Given the description of an element on the screen output the (x, y) to click on. 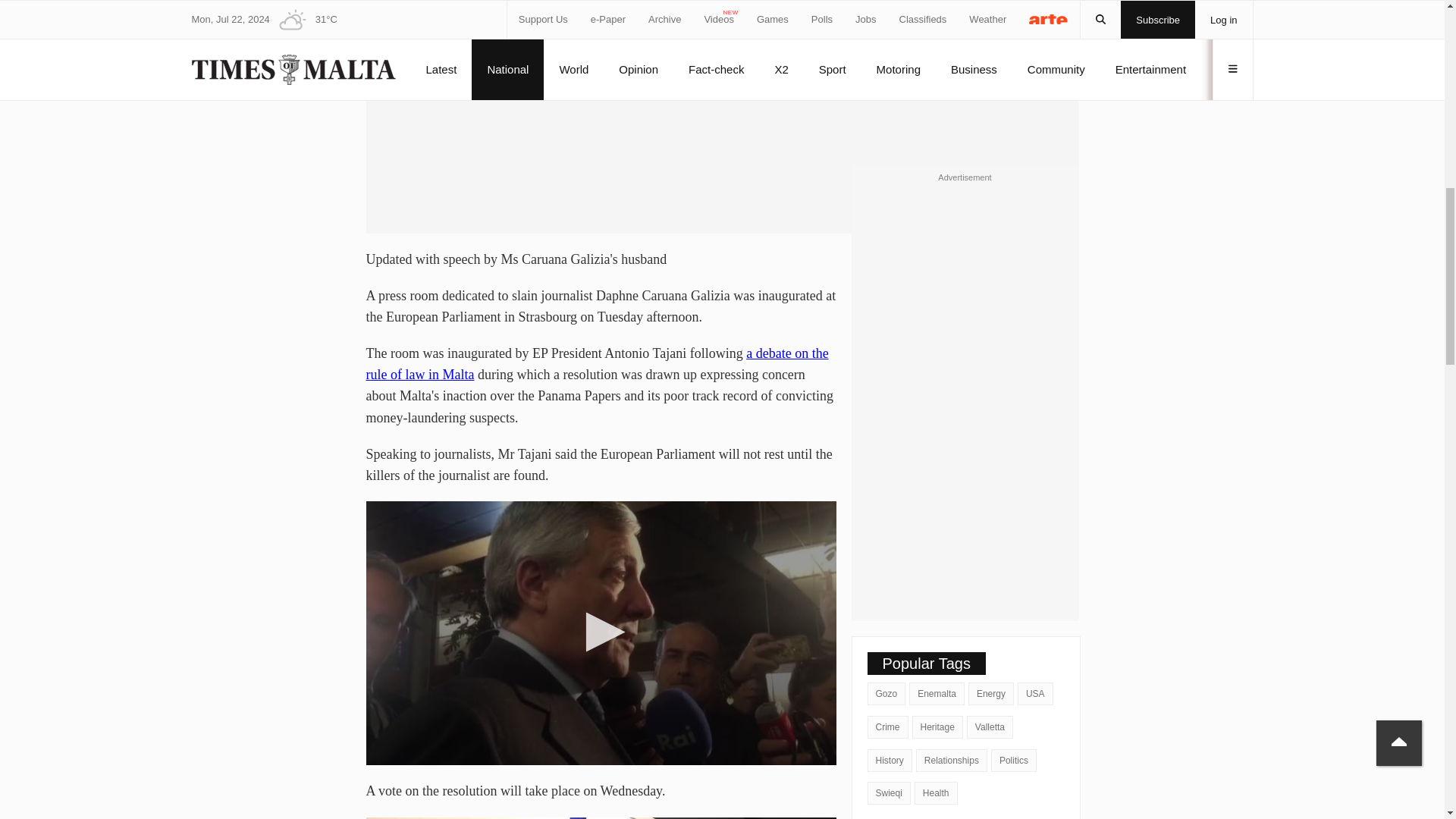
a debate on the rule of law in Malta (596, 363)
